Given the description of an element on the screen output the (x, y) to click on. 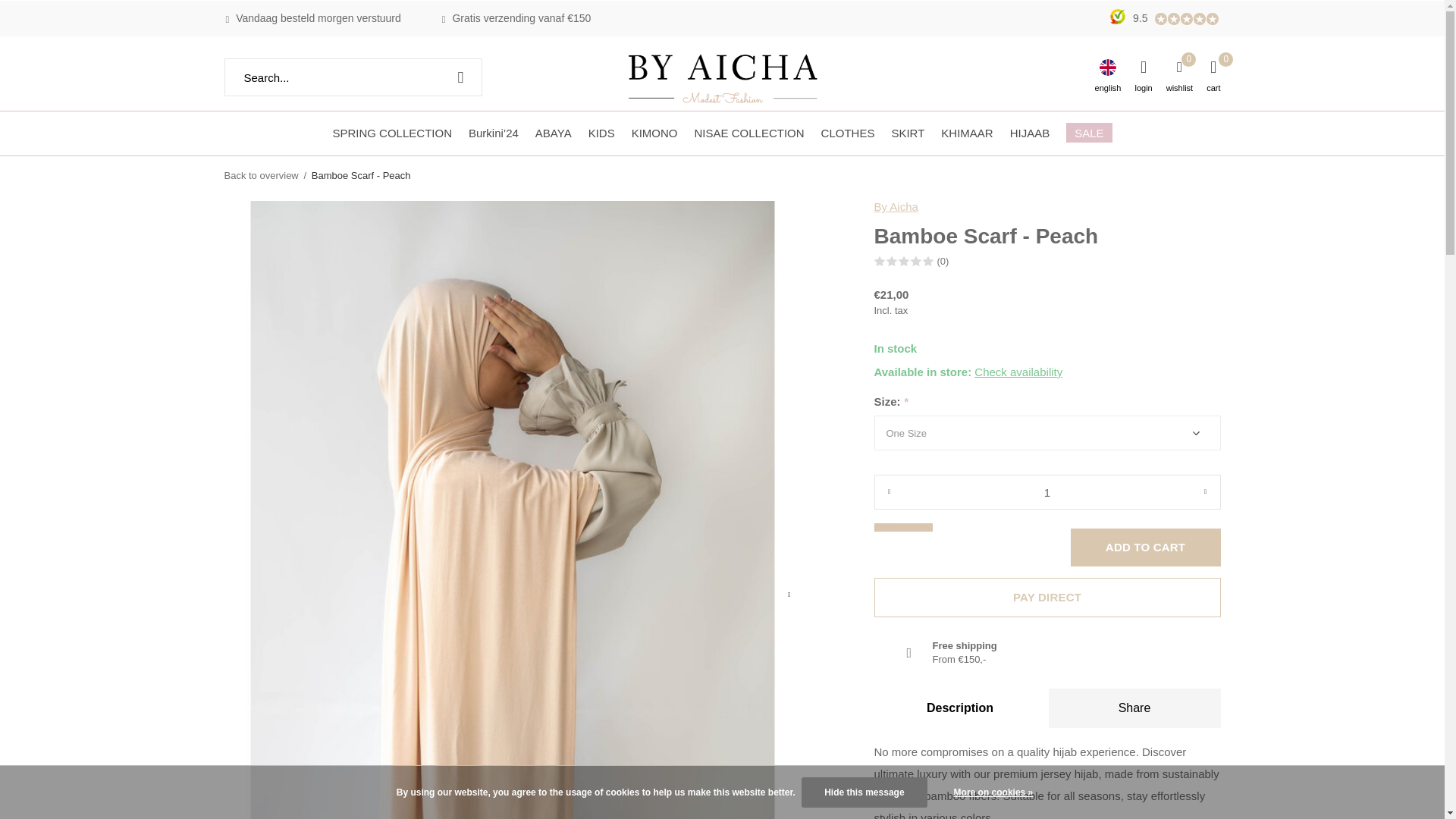
SPRING COLLECTION (391, 132)
More on cookies (993, 792)
KIDS (601, 132)
1 (1046, 492)
Hide this message (864, 792)
ABAYA (553, 132)
